Given the description of an element on the screen output the (x, y) to click on. 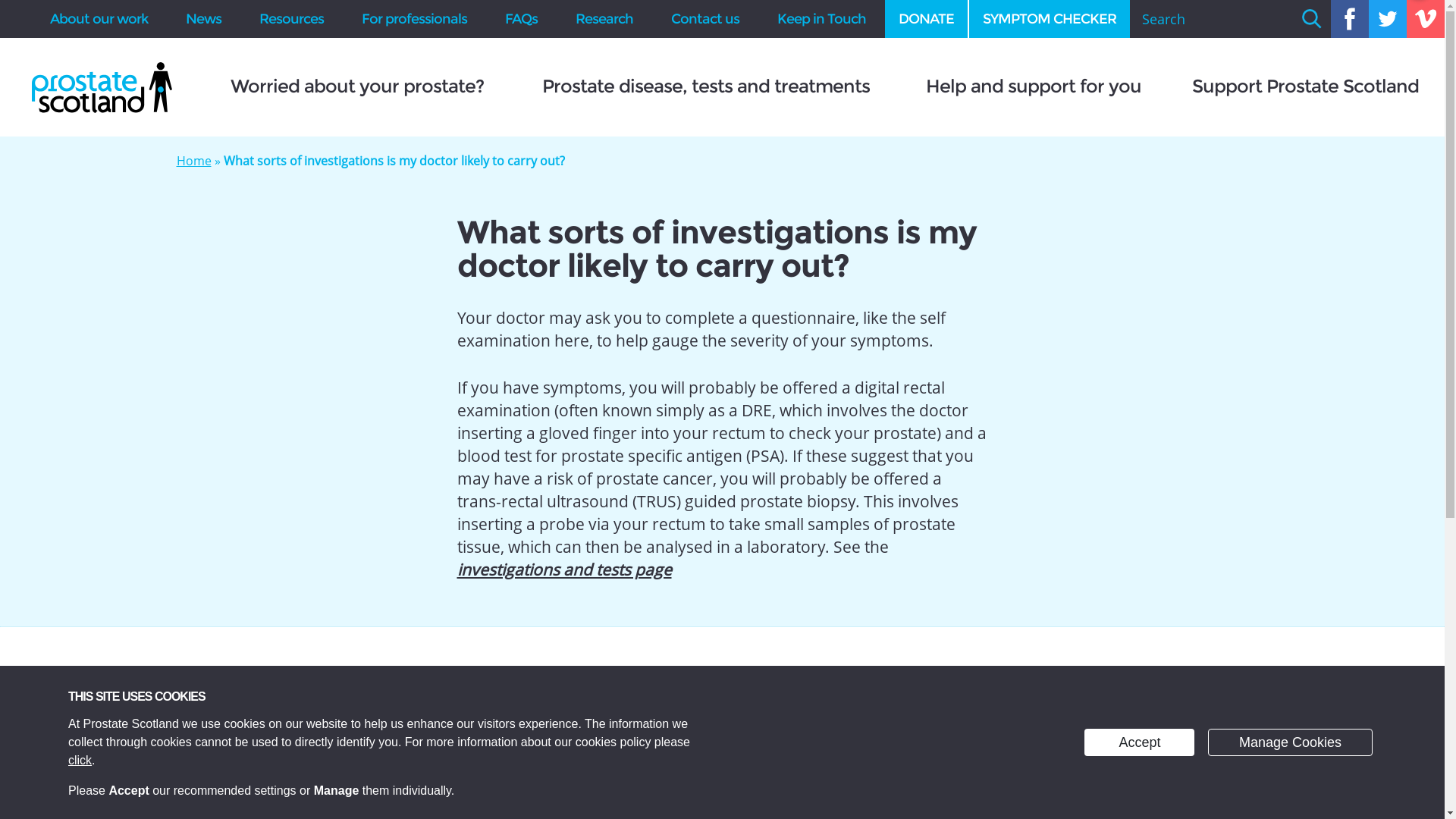
Search (1311, 18)
investigations and tests page (564, 568)
For professionals (414, 18)
Facebook (1349, 18)
click (79, 759)
Cookie Control (16, 803)
Manage Cookies (1290, 741)
About our work (98, 18)
Research (604, 18)
DONATE (926, 18)
Privacy Policy (79, 759)
Prostate disease, tests and treatments (706, 86)
Twitter (1387, 18)
Keep in Touch (821, 18)
Accept (1138, 741)
